Given the description of an element on the screen output the (x, y) to click on. 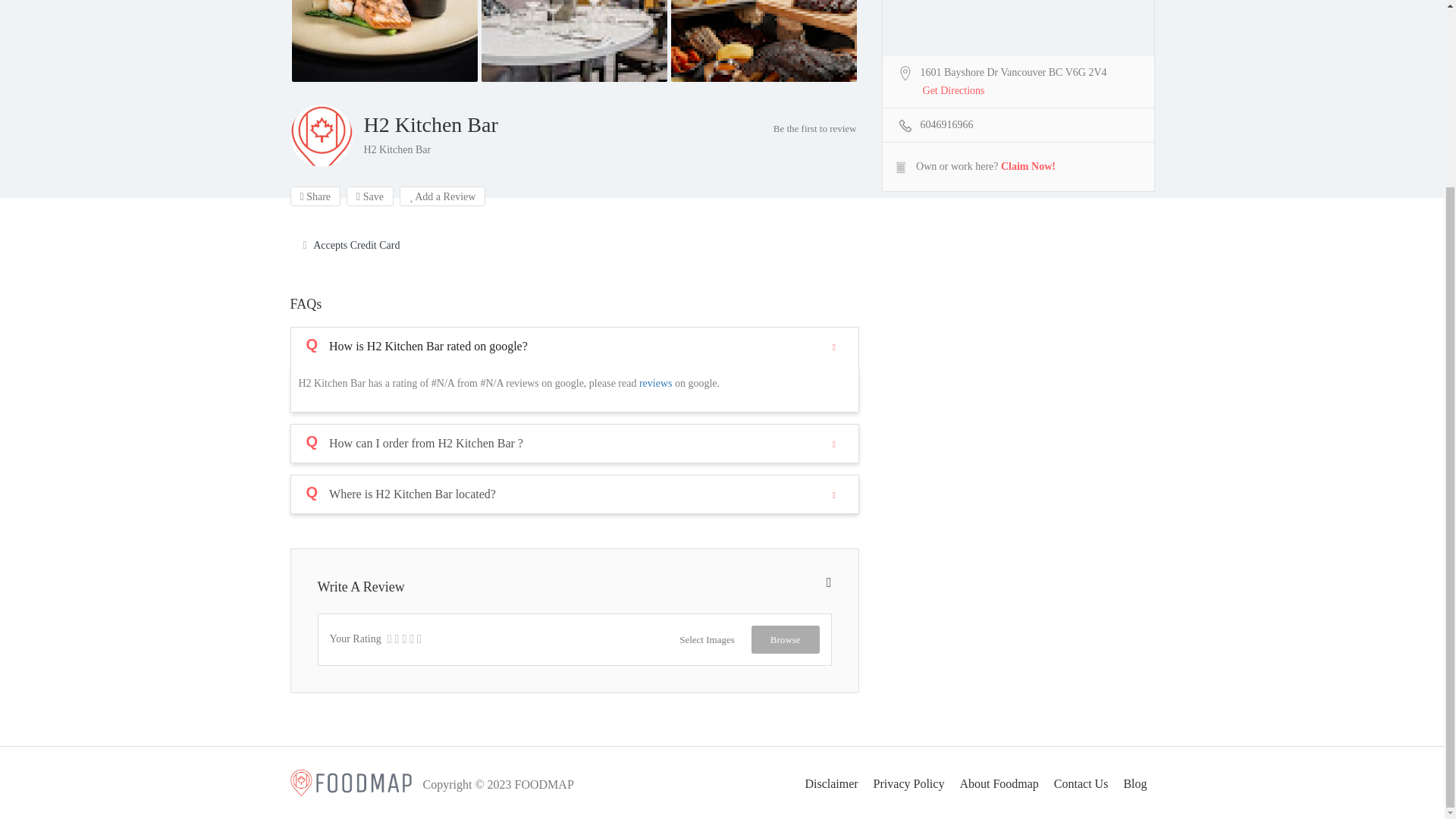
Submit (413, 269)
